Given the description of an element on the screen output the (x, y) to click on. 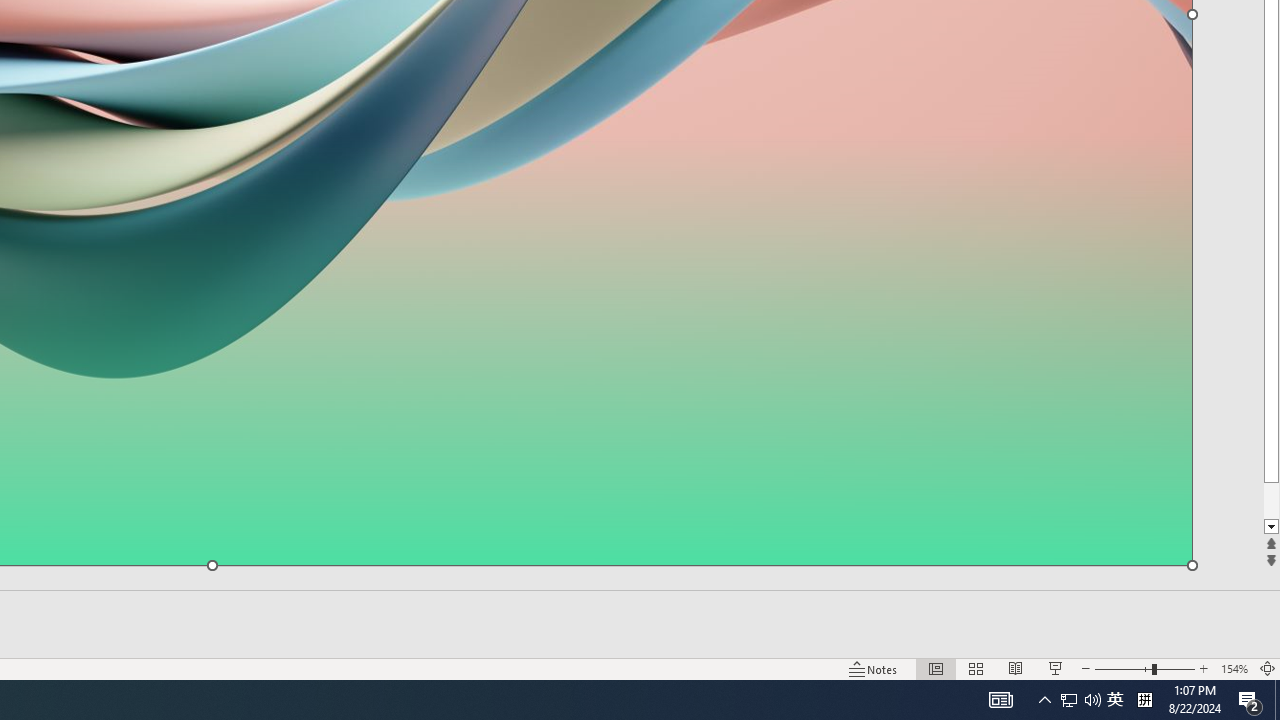
Zoom 154% (1234, 668)
